Given the description of an element on the screen output the (x, y) to click on. 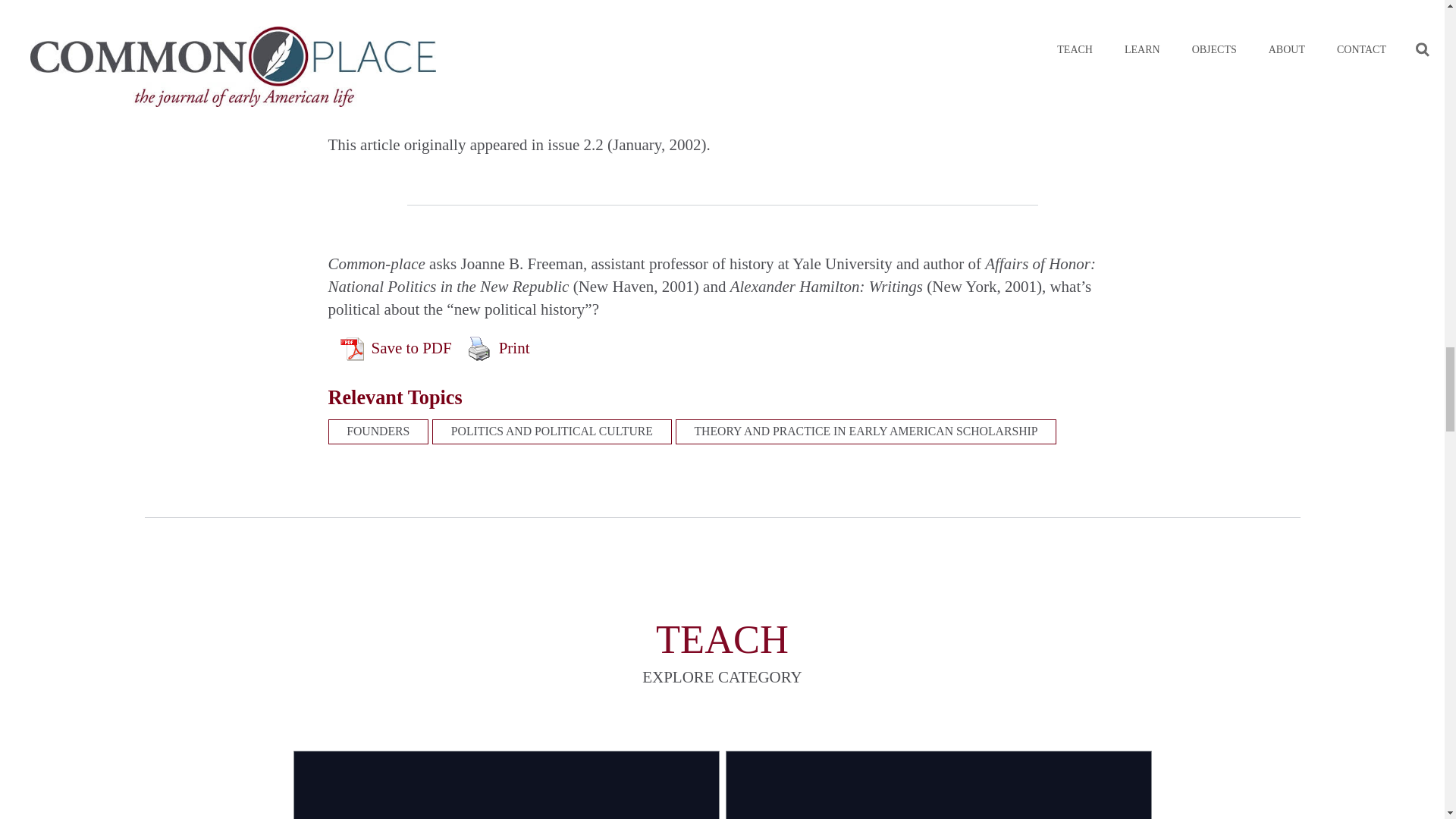
POLITICS AND POLITICAL CULTURE (551, 431)
Print Content (479, 348)
View PDF (350, 348)
Print (498, 348)
THEORY AND PRACTICE IN EARLY AMERICAN SCHOLARSHIP (866, 431)
Save to PDF (395, 348)
FOUNDERS (377, 431)
